Given the description of an element on the screen output the (x, y) to click on. 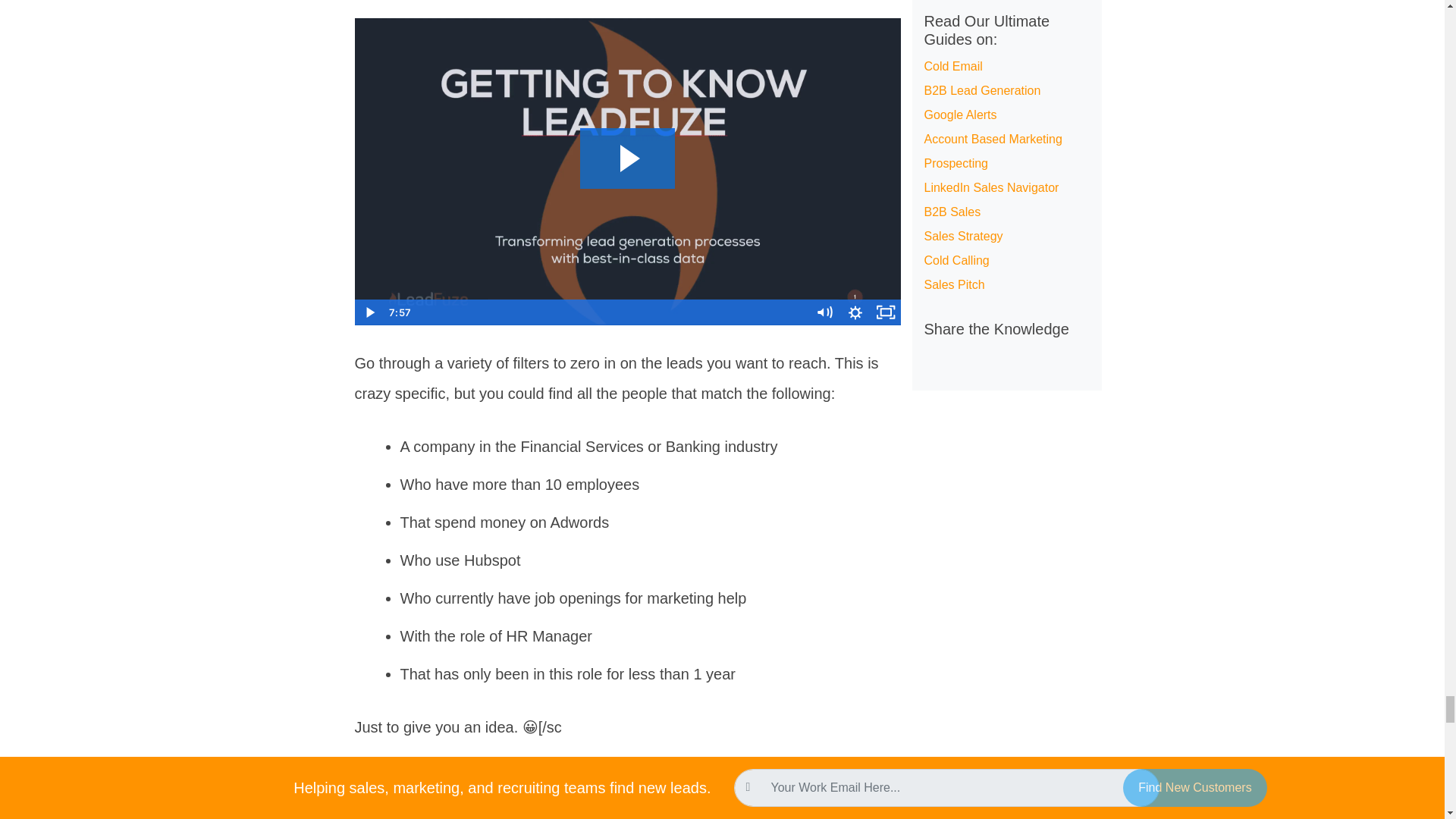
Play Video (370, 311)
Fullscreen (885, 311)
Show settings menu (855, 311)
Mute (824, 311)
